Given the description of an element on the screen output the (x, y) to click on. 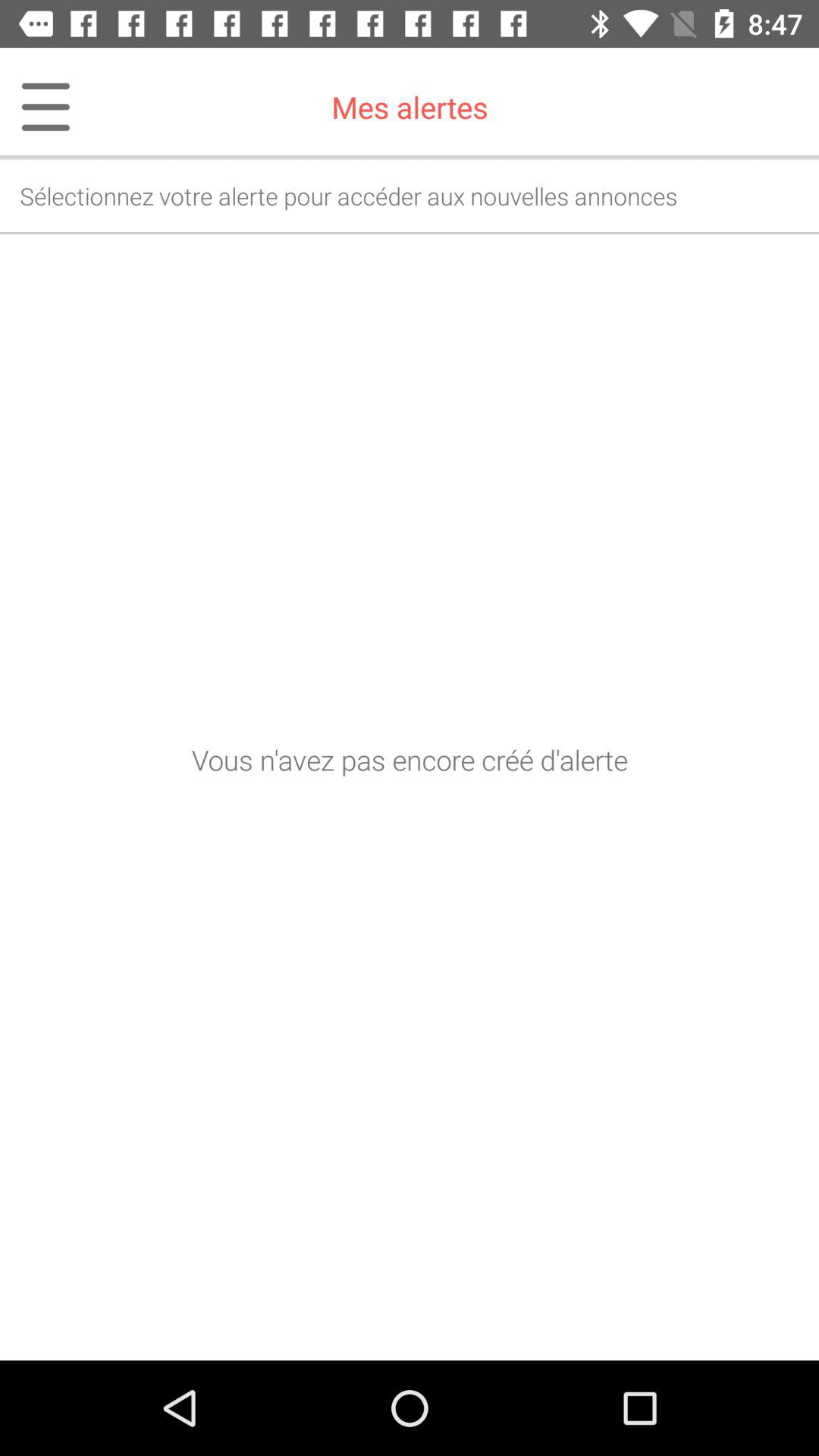
open icon to the left of mes alertes (35, 106)
